Given the description of an element on the screen output the (x, y) to click on. 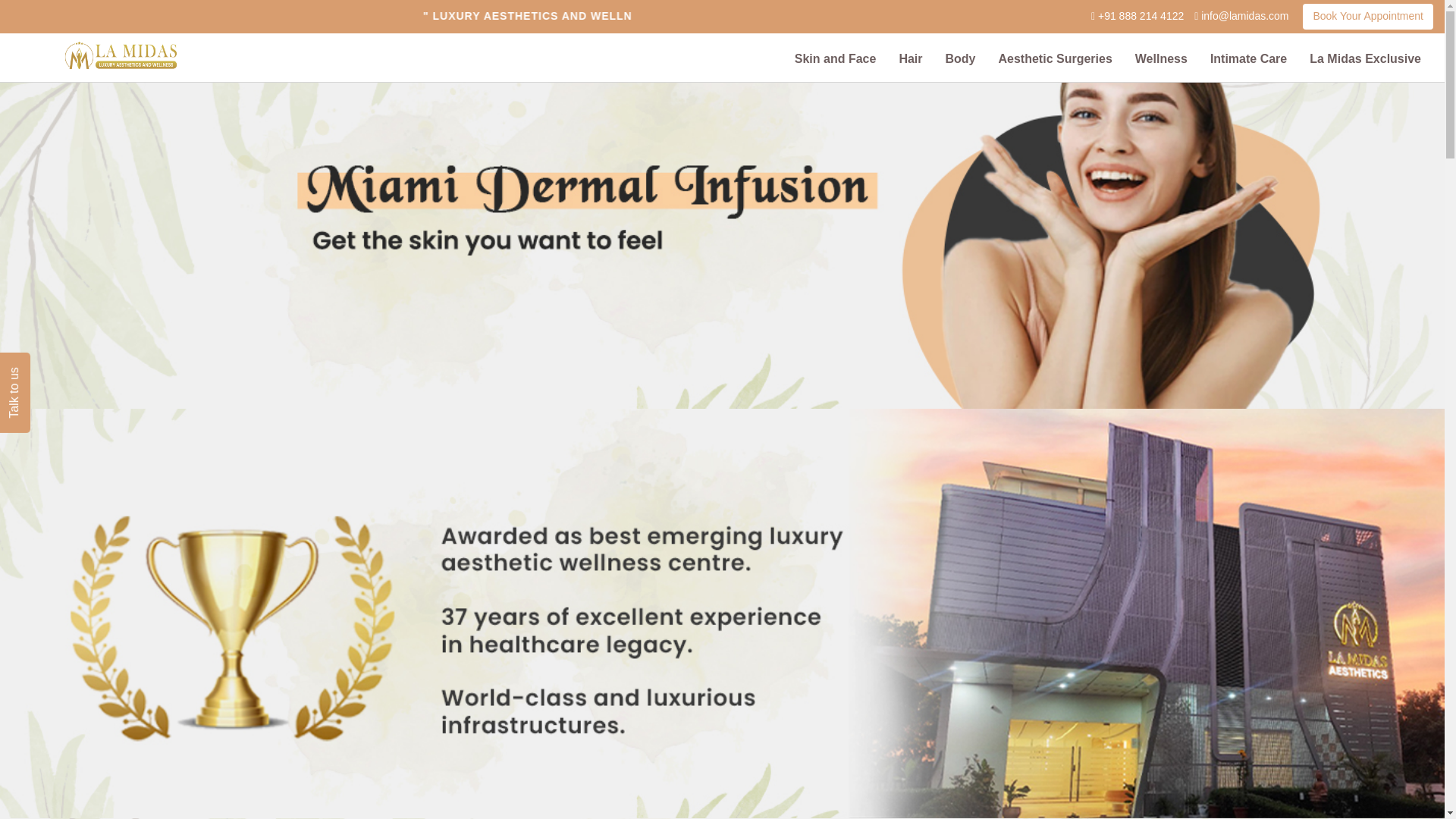
Wellness (1161, 58)
Skin and Face (835, 58)
Body (960, 58)
Intimate Care (1248, 58)
La Midas Exclusive (1365, 58)
Hair (909, 58)
Skin and Face (835, 58)
Book Your Appointment (1367, 16)
Aesthetic Surgeries (1055, 58)
Body (960, 58)
